Given the description of an element on the screen output the (x, y) to click on. 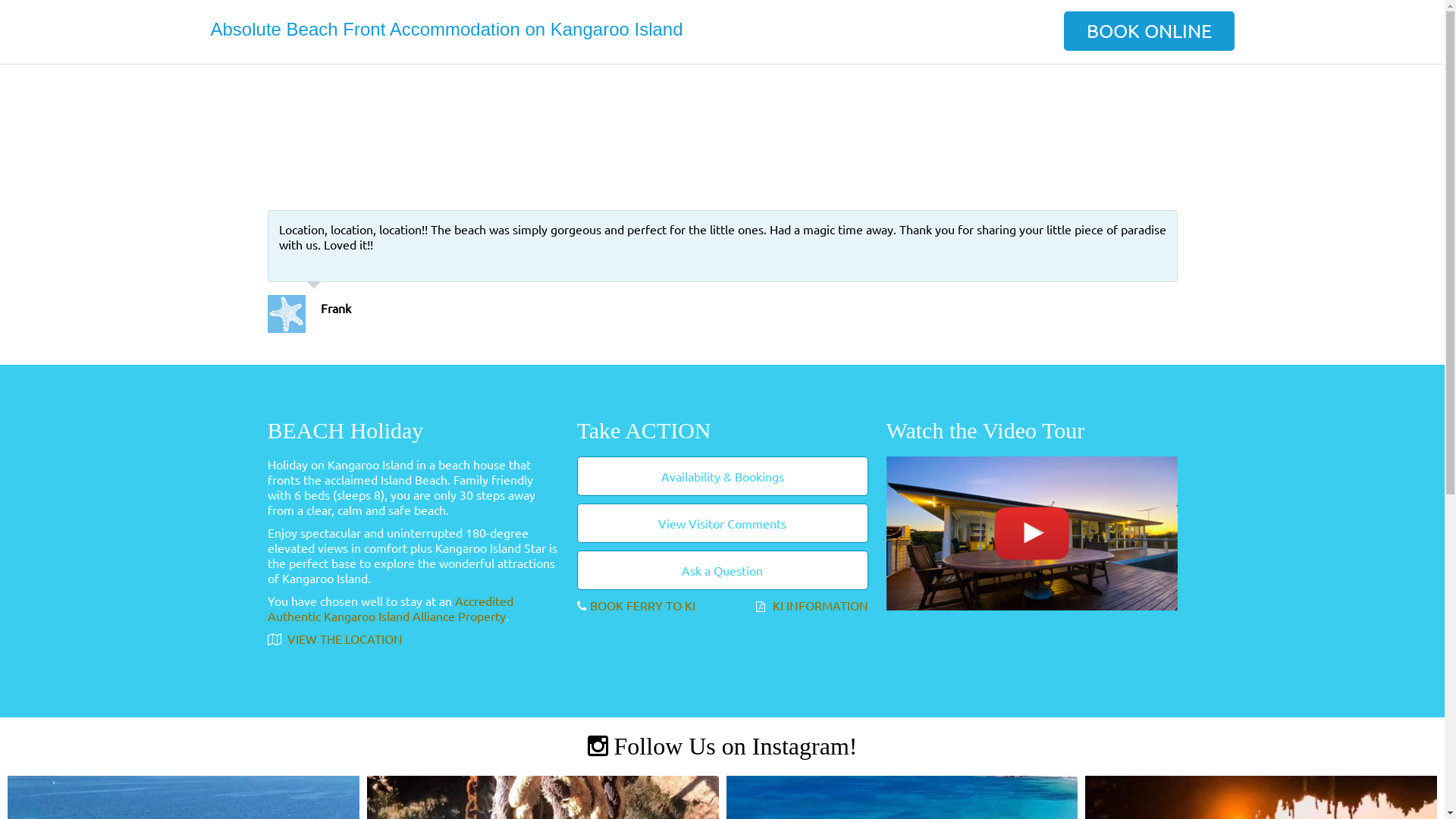
Rates Element type: text (1126, 82)
Gallery Element type: text (951, 82)
Availability & Bookings Element type: text (721, 475)
Accredited Authentic Kangaroo Island Alliance Property Element type: text (389, 608)
Location Element type: text (872, 82)
VIEW THE LOCATION Element type: text (342, 638)
BOOK FERRY TO KI Element type: text (642, 604)
Accommodation Element type: text (759, 82)
KI INFORMATION Element type: text (819, 604)
Ask a Question Element type: text (721, 569)
View Visitor Comments Element type: text (721, 522)
Follow Us on Instagram! Element type: text (722, 745)
Absolute Beach Front Accommodation on Kangaroo Island Element type: text (446, 28)
Contact Element type: text (1196, 82)
Home Element type: text (654, 82)
Frank Element type: text (335, 307)
KI Activities Element type: text (1041, 82)
BOOK ONLINE Element type: text (1148, 30)
